Given the description of an element on the screen output the (x, y) to click on. 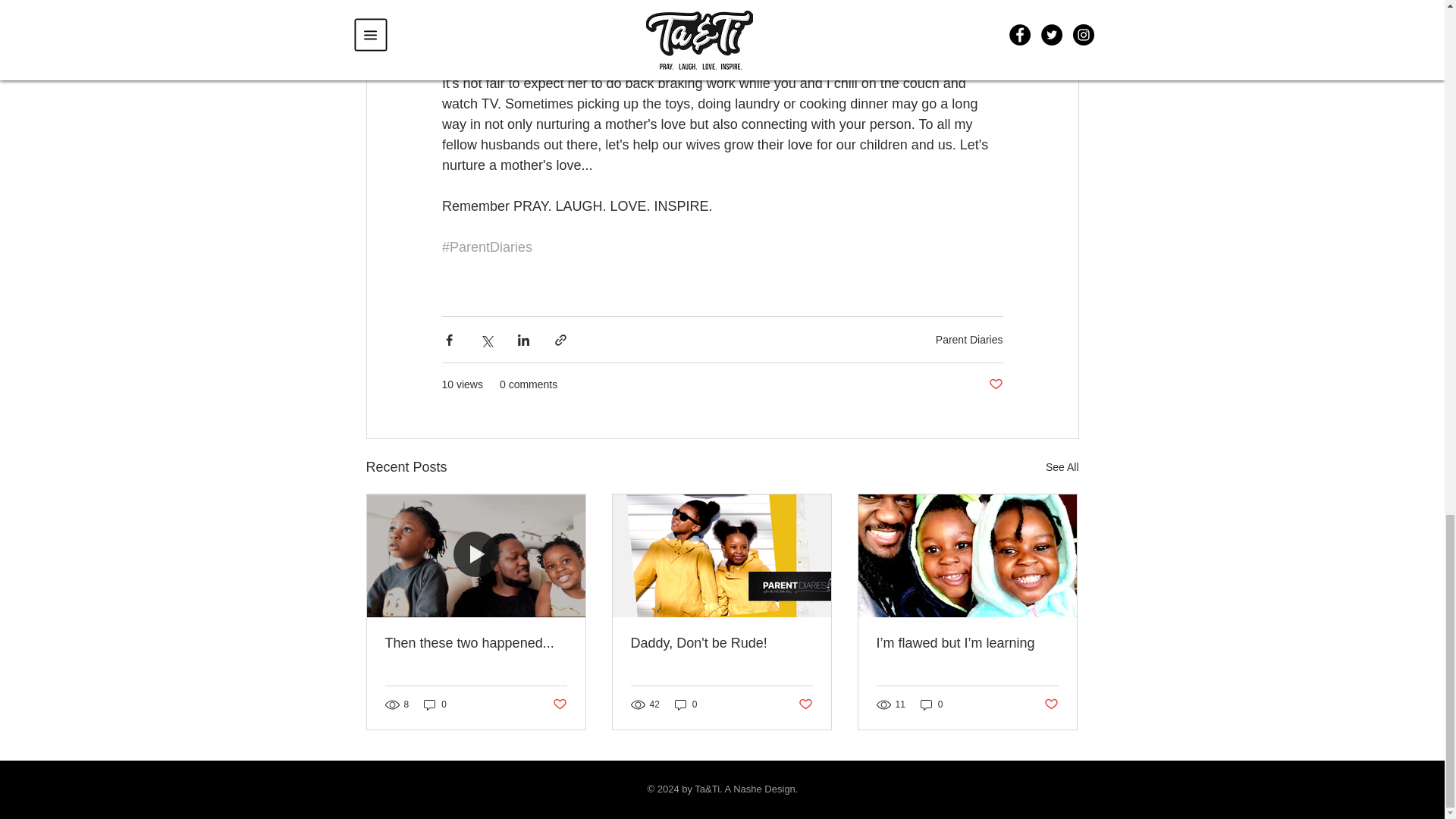
Parent Diaries (969, 339)
Post not marked as liked (1050, 703)
0 (685, 704)
Post not marked as liked (804, 703)
0 (435, 704)
Then these two happened... (476, 643)
Post not marked as liked (558, 703)
Post not marked as liked (995, 384)
0 (931, 704)
Daddy, Don't be Rude! (721, 643)
